Given the description of an element on the screen output the (x, y) to click on. 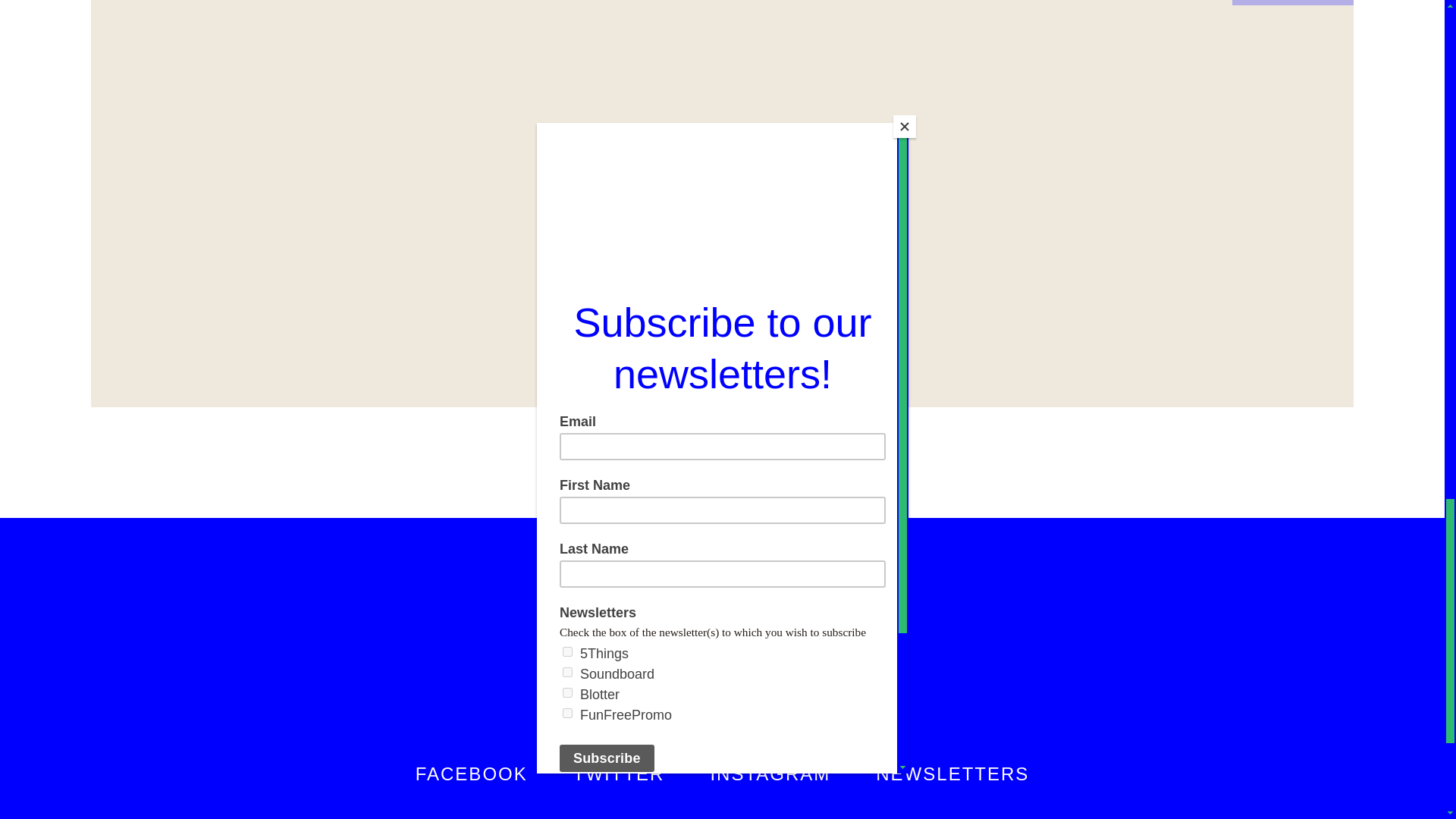
FACEBOOK (470, 773)
TWITTER (619, 773)
NEWSLETTERS (952, 773)
INSTAGRAM (769, 773)
